Given the description of an element on the screen output the (x, y) to click on. 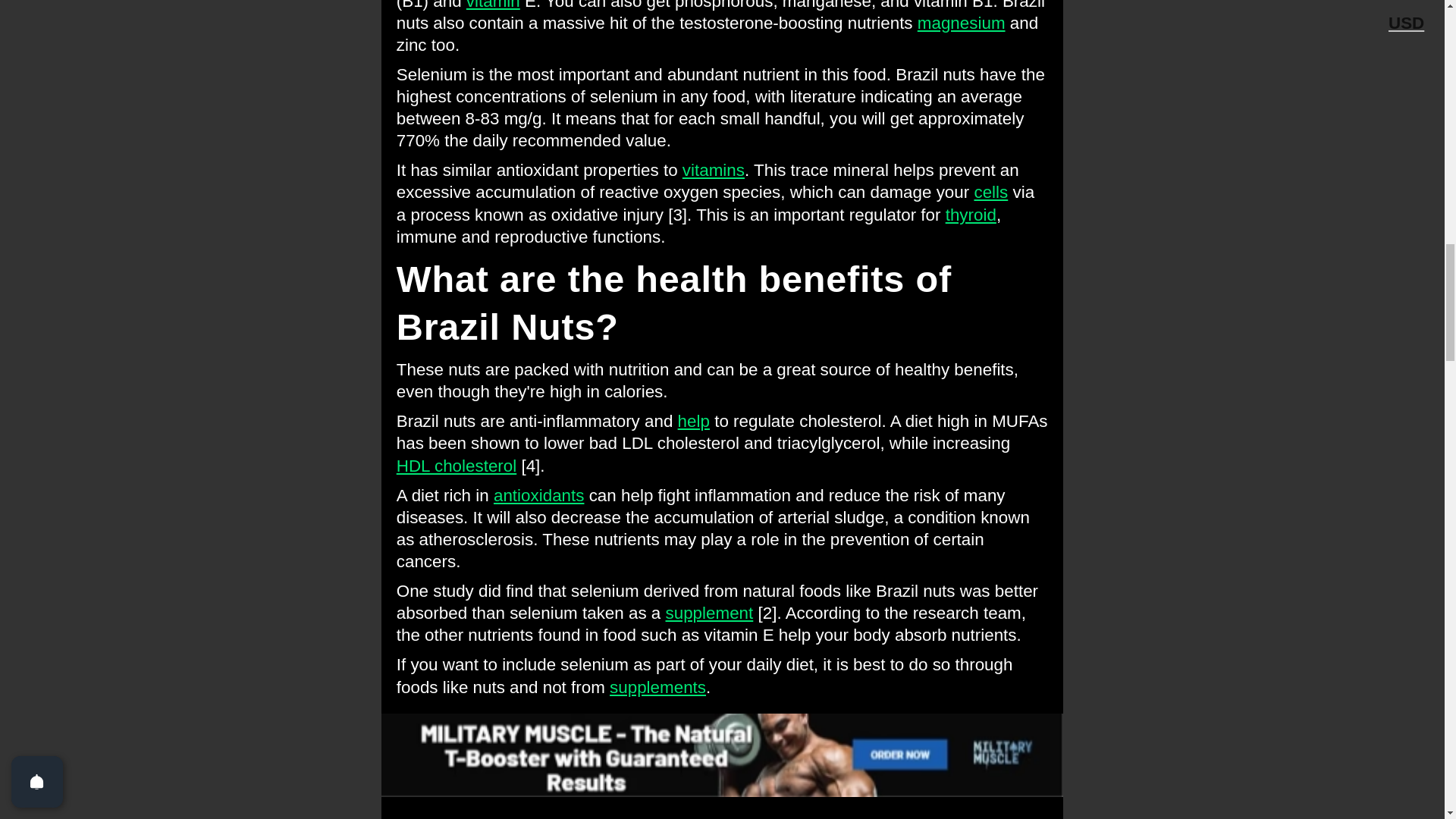
antioxidants (539, 495)
thyroid (969, 214)
help (694, 420)
vitamin (492, 5)
supplement (709, 612)
vitamins (713, 169)
cells (990, 191)
HDL cholesterol (456, 465)
magnesium (961, 22)
